Given the description of an element on the screen output the (x, y) to click on. 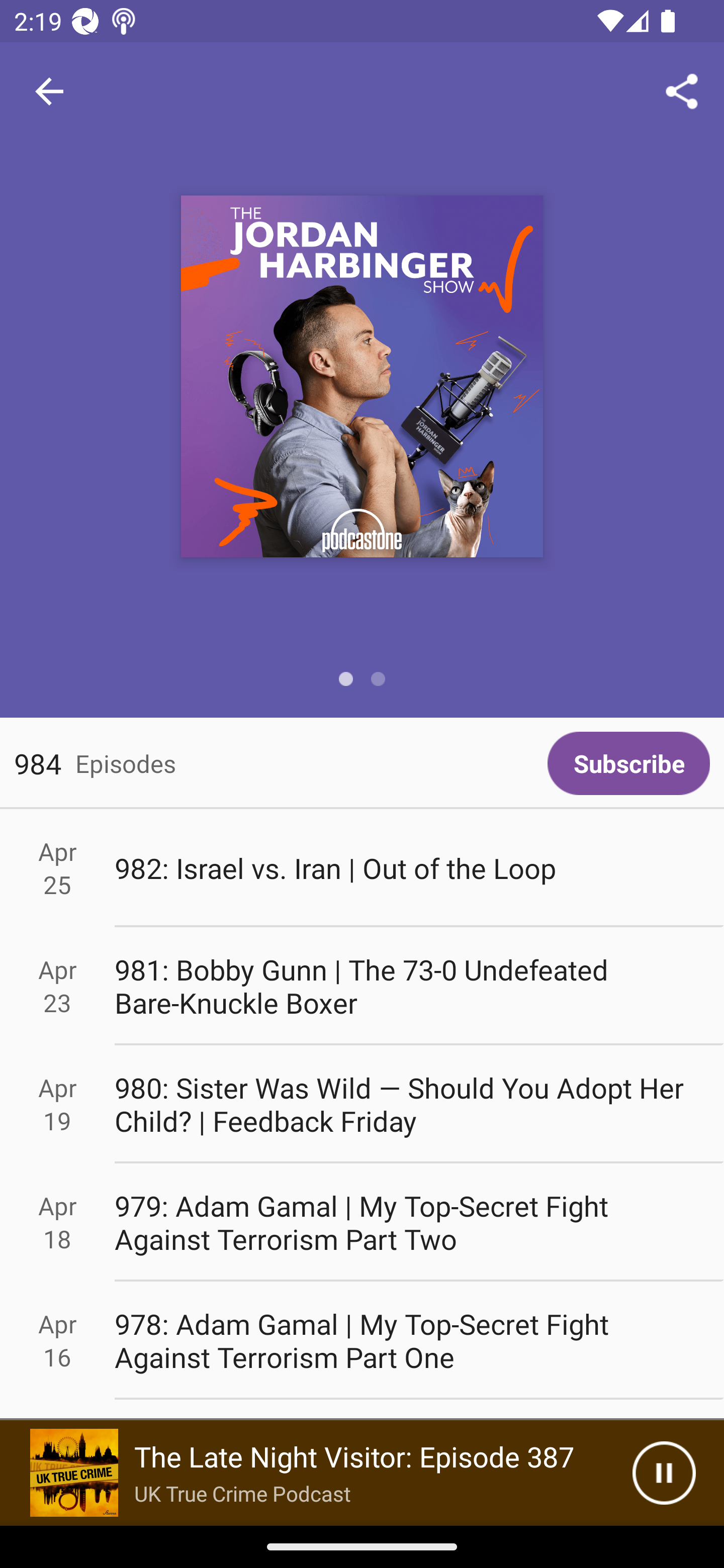
Navigate up (49, 91)
Share... (681, 90)
Subscribe (628, 763)
Apr 25 982: Israel vs. Iran | Out of the Loop (362, 867)
Pause (663, 1472)
